Given the description of an element on the screen output the (x, y) to click on. 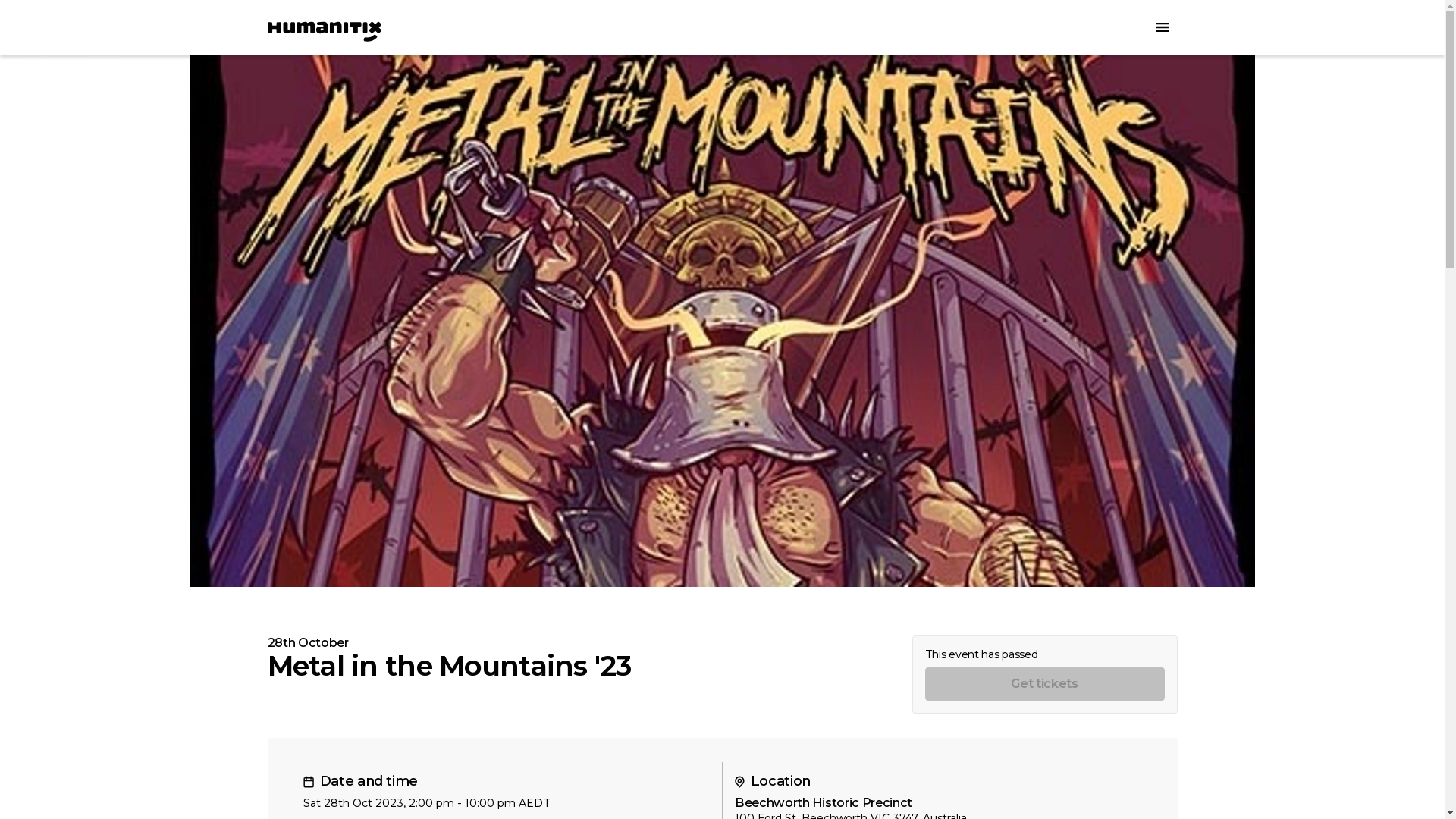
Get tickets Element type: text (1044, 683)
